Given the description of an element on the screen output the (x, y) to click on. 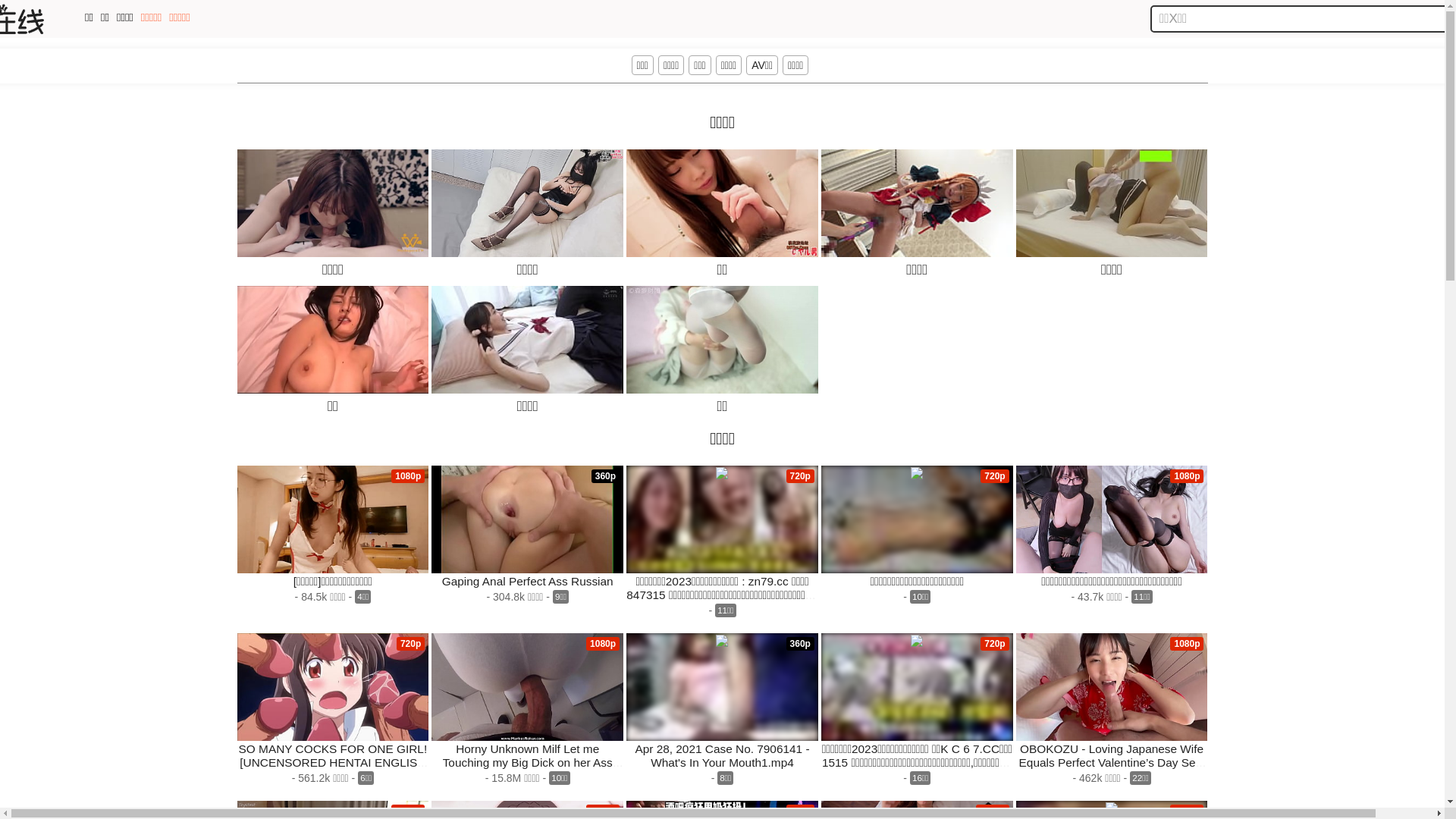
720p Element type: text (722, 518)
Gaping Anal Perfect Ass Russian Element type: text (527, 580)
1080p Element type: text (527, 686)
1080p Element type: text (1112, 519)
Apr 28, 2021 Case No. 7906141 - What's In Your Mouth1.mp4 Element type: text (721, 755)
720p Element type: text (917, 518)
360p Element type: text (527, 519)
720p Element type: text (332, 686)
1080p Element type: text (1112, 686)
720p Element type: text (917, 686)
360p Element type: text (722, 686)
1080p Element type: text (332, 519)
